Given the description of an element on the screen output the (x, y) to click on. 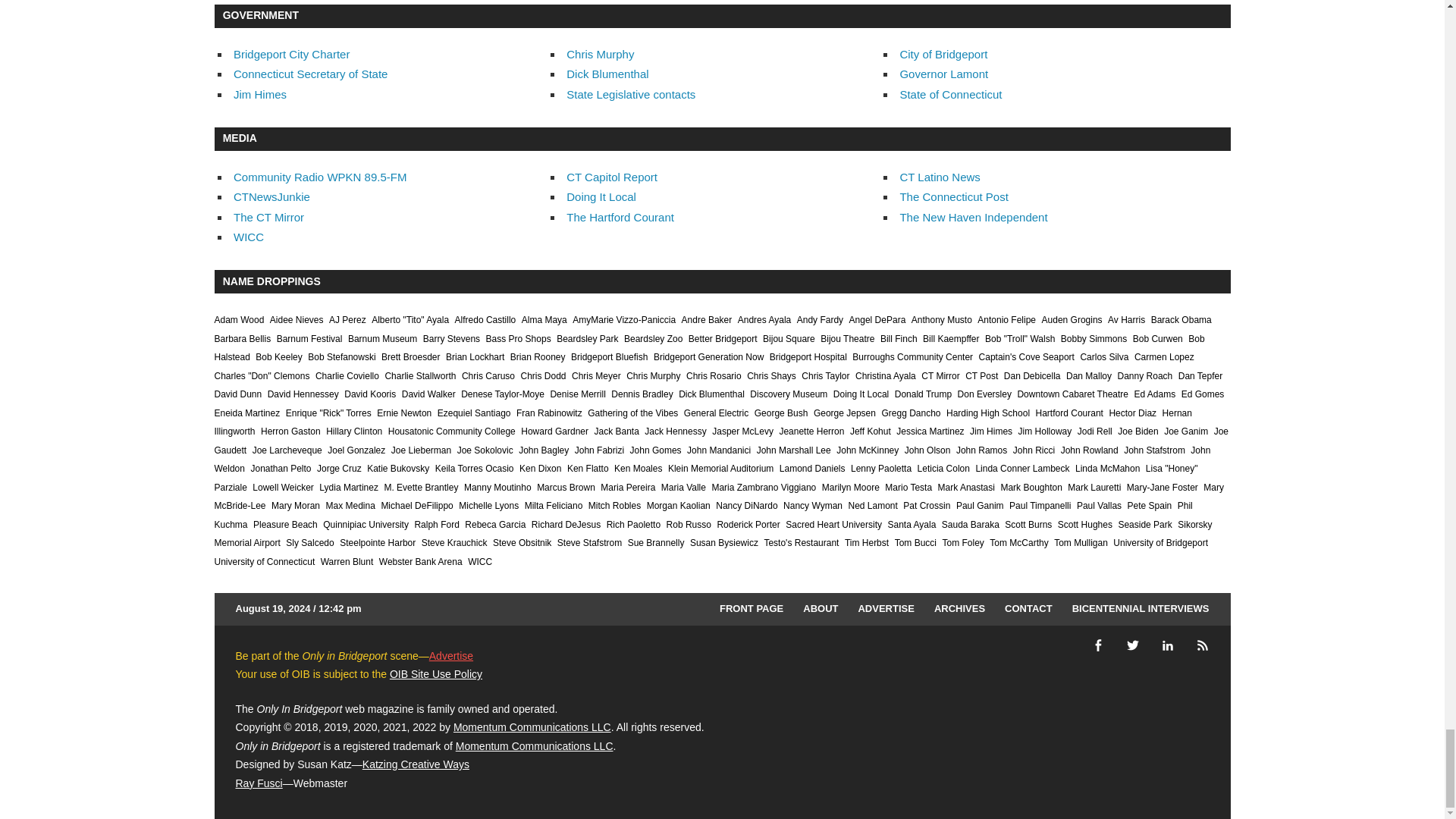
The New Haven Independent (972, 216)
Because you need it. Bad. (271, 196)
The Connecticut Post Online (953, 196)
CT Capitol Report (612, 176)
The Hartford Courant (620, 216)
Secretary of the State (309, 73)
State of Connecticut (950, 93)
Contact your State Legislators (630, 93)
The official Bridgeport website (943, 53)
